Given the description of an element on the screen output the (x, y) to click on. 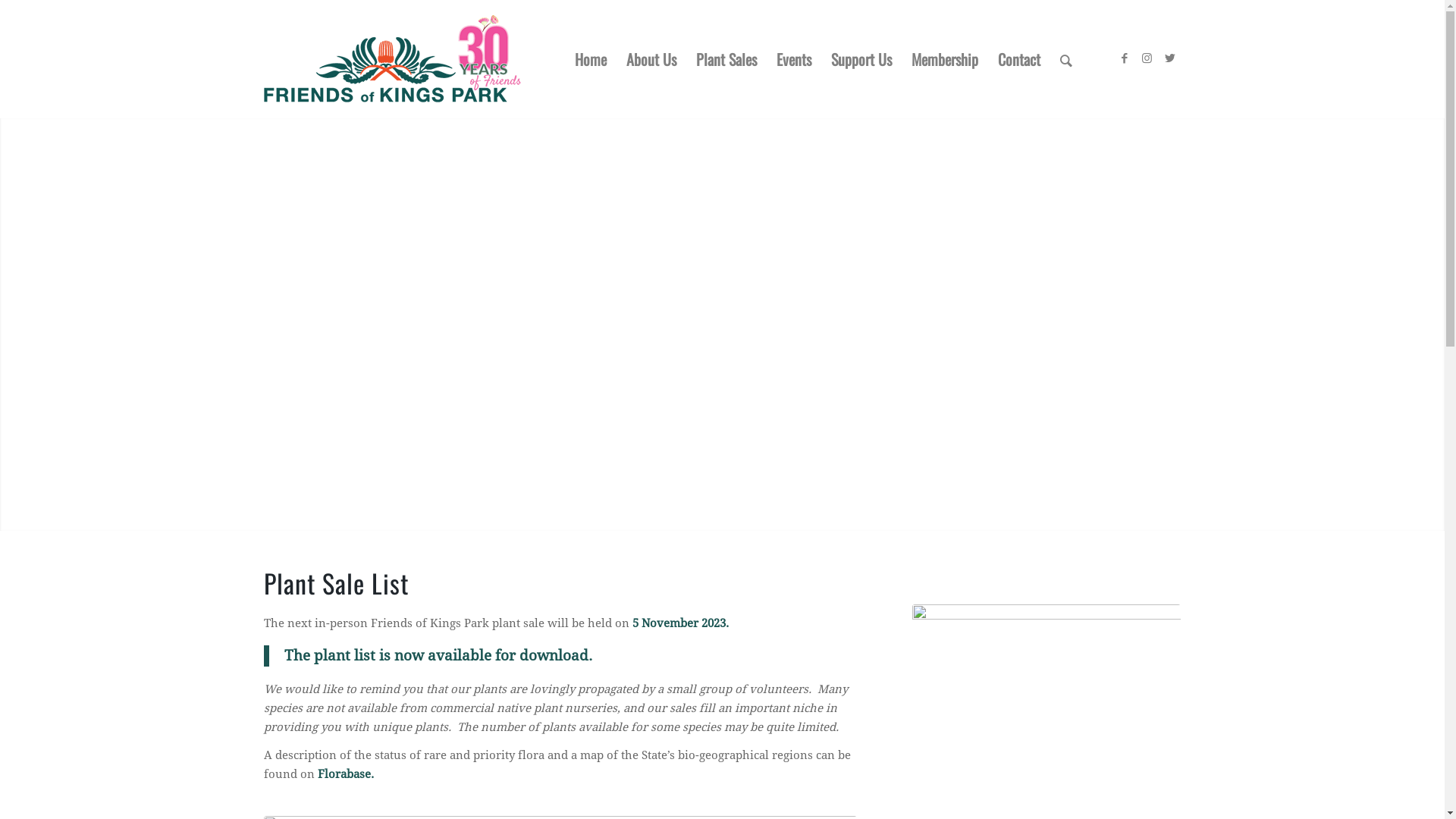
Facebook Element type: hover (1124, 58)
Contact Element type: text (1018, 59)
Twitter Element type: hover (1169, 58)
Events Element type: text (792, 59)
FOKP-30-web Element type: hover (392, 59)
Support Us Element type: text (860, 59)
Membership Element type: text (943, 59)
About Us Element type: text (650, 59)
Florabase. Element type: text (344, 774)
Home Element type: text (589, 59)
Instagram Element type: hover (1146, 58)
Plant Sales Element type: text (725, 59)
